Given the description of an element on the screen output the (x, y) to click on. 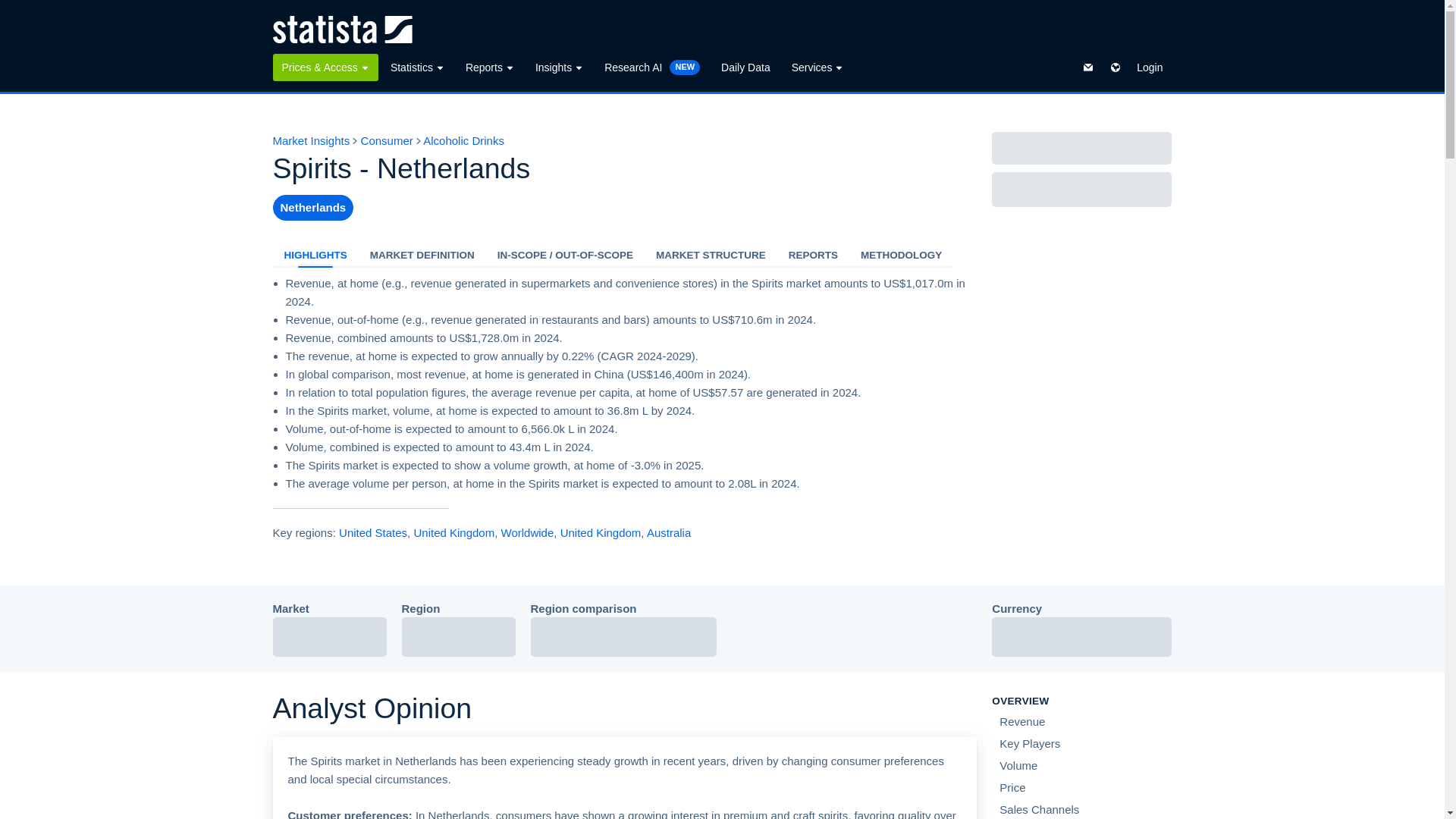
Login (1149, 67)
Reports (489, 67)
Skip to main content (12, 9)
Login (1149, 67)
Statistics (416, 67)
